Given the description of an element on the screen output the (x, y) to click on. 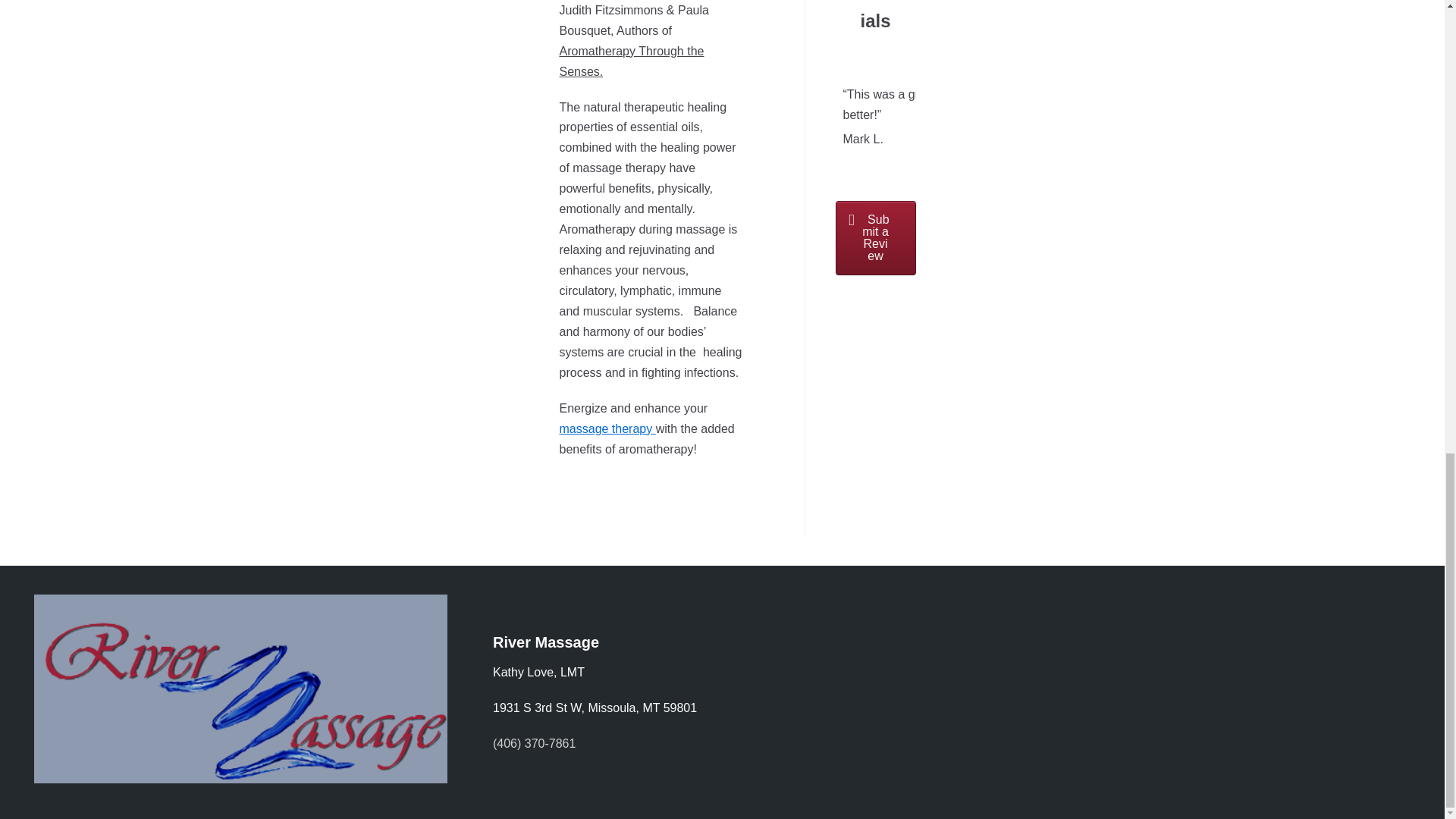
Submit a Review (875, 237)
massage therapy (607, 428)
